Given the description of an element on the screen output the (x, y) to click on. 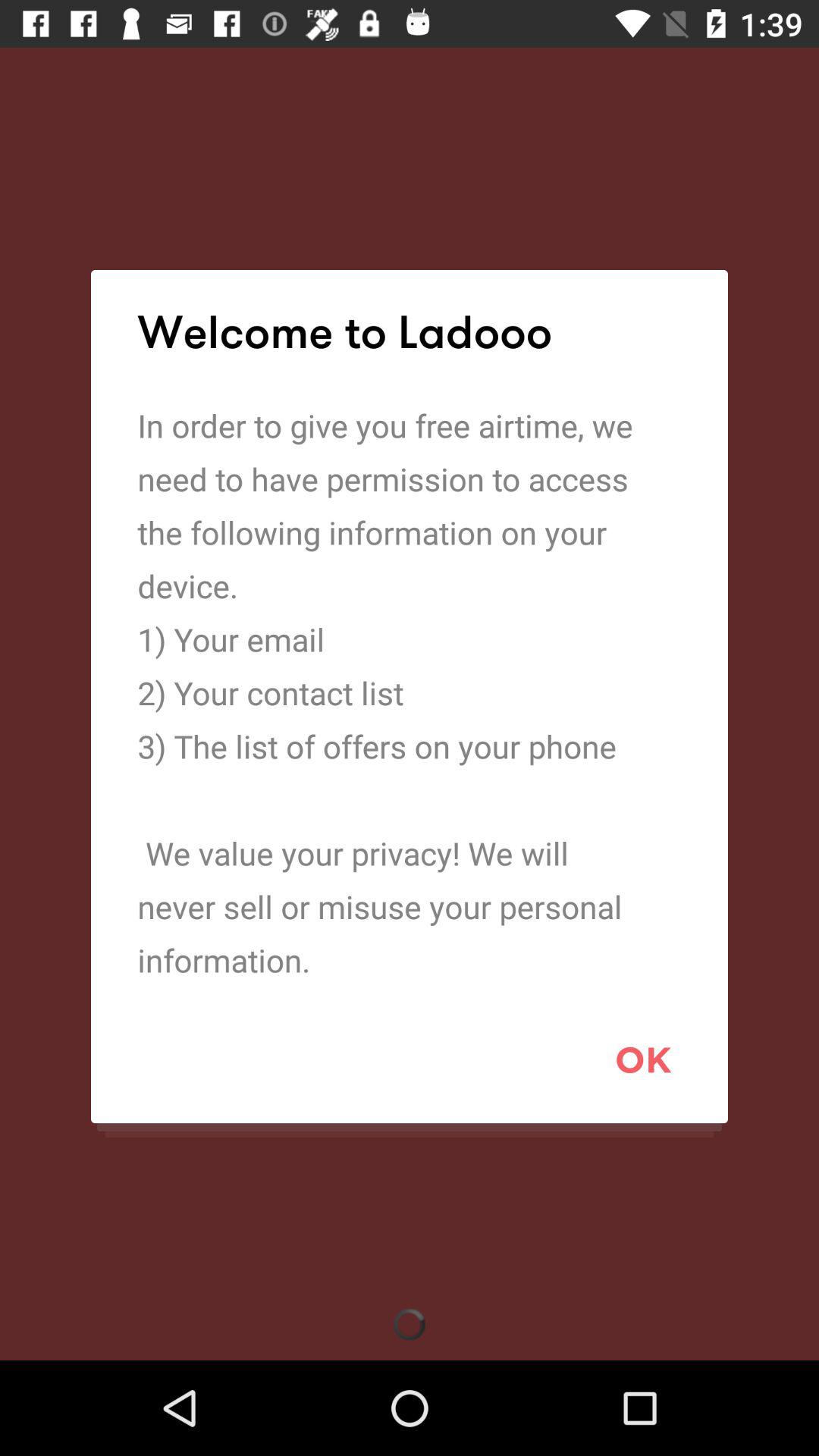
flip to the ok icon (642, 1059)
